Given the description of an element on the screen output the (x, y) to click on. 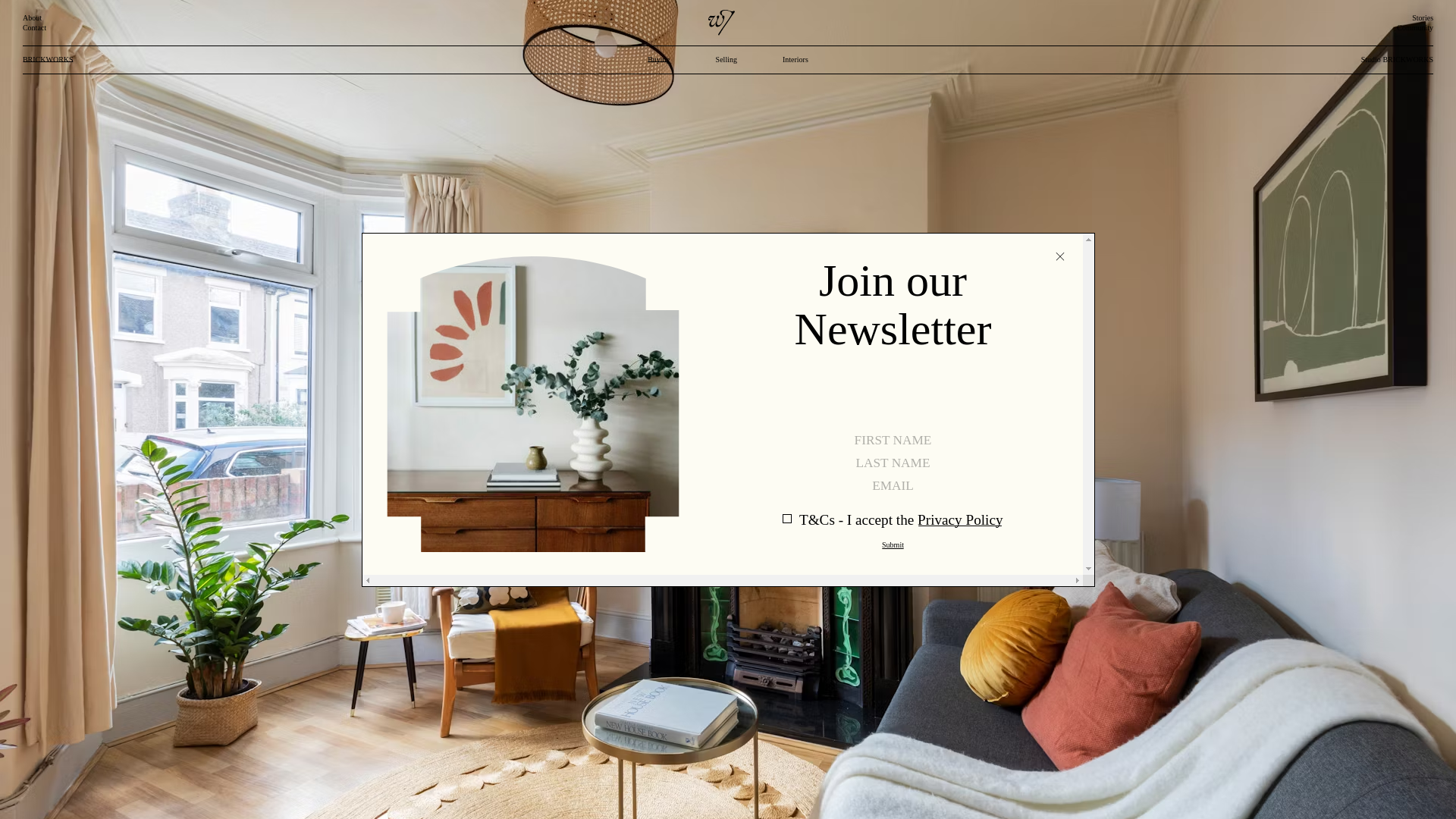
Submit (893, 545)
Studio BRICKWORKS (1396, 59)
on (896, 522)
BRICKWORKS (48, 59)
Interiors (795, 59)
Contact (34, 27)
About (32, 17)
Submit (893, 545)
Selling (726, 59)
Stories (1422, 17)
Buying (658, 59)
Community (1414, 27)
Privacy Policy (960, 519)
